Given the description of an element on the screen output the (x, y) to click on. 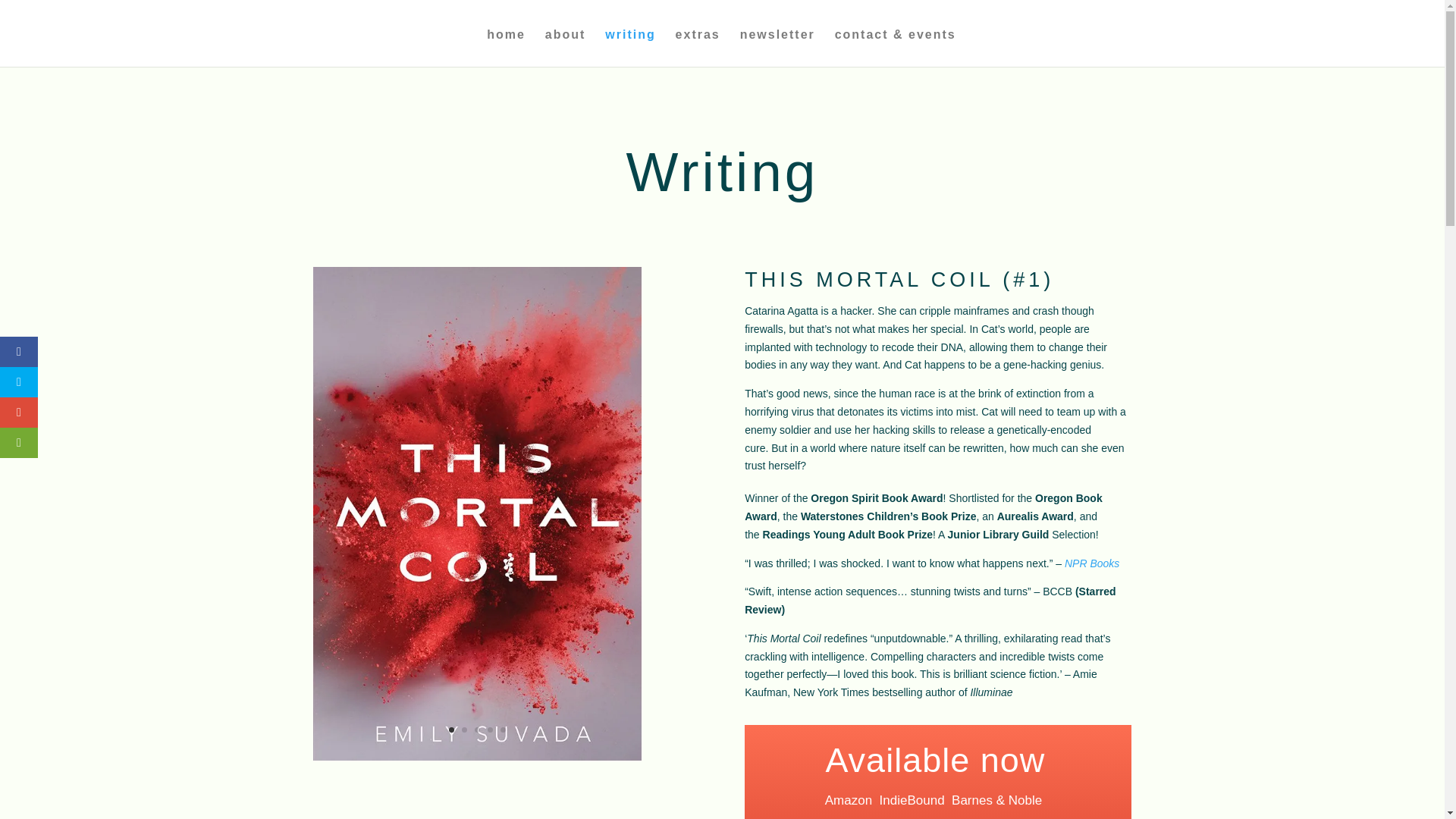
extras (697, 47)
newsletter (777, 47)
NPR Books (1091, 562)
home (505, 47)
about (565, 47)
Amazon (848, 800)
This-Mortal-Coil-By-Emily-Suvada (477, 756)
IndieBound   (915, 800)
writing (630, 47)
